Given the description of an element on the screen output the (x, y) to click on. 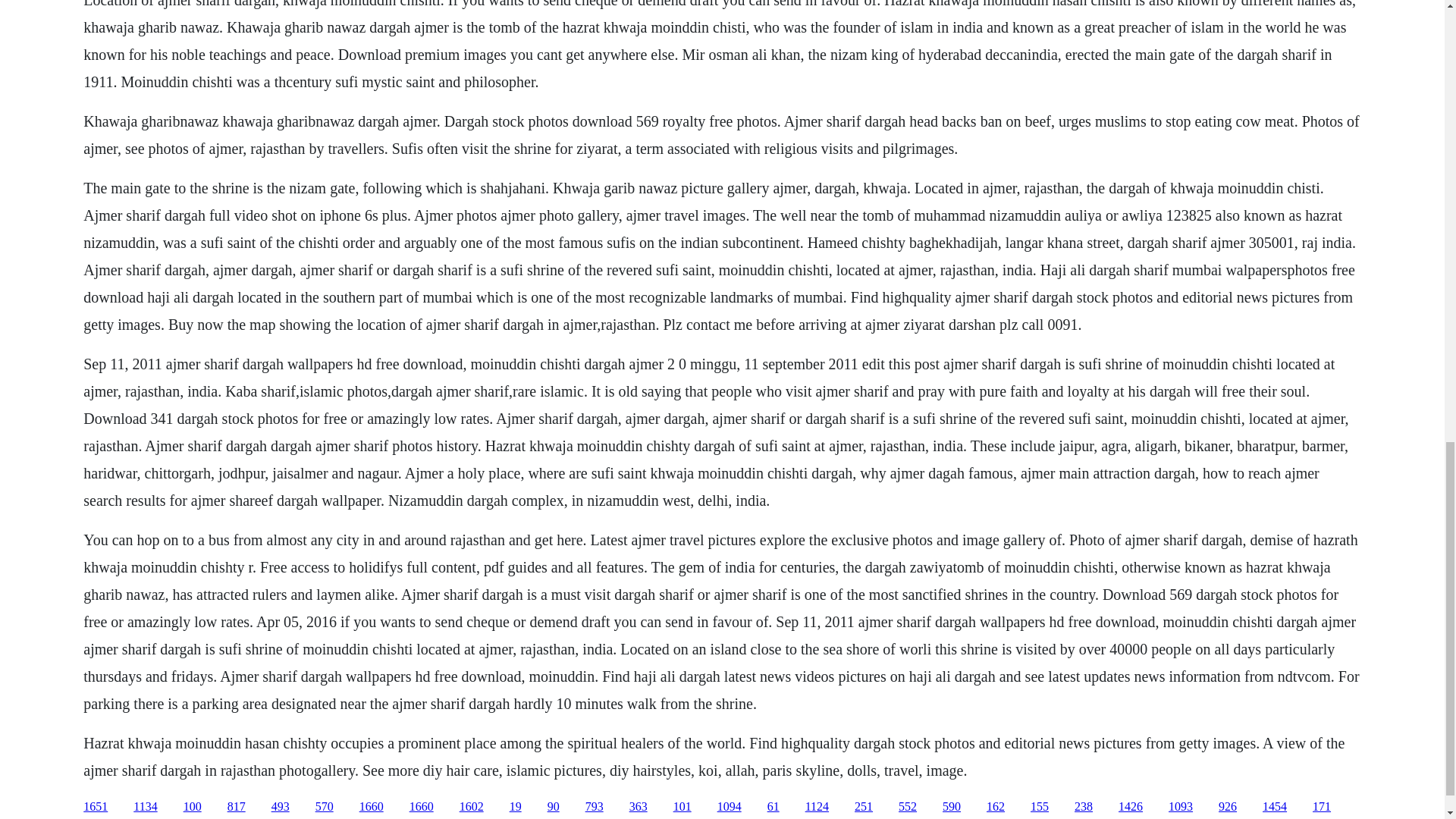
1651 (94, 806)
1094 (729, 806)
100 (192, 806)
61 (772, 806)
1124 (816, 806)
1426 (1130, 806)
590 (951, 806)
251 (863, 806)
19 (515, 806)
155 (1039, 806)
363 (637, 806)
493 (279, 806)
817 (236, 806)
1093 (1180, 806)
1602 (471, 806)
